Given the description of an element on the screen output the (x, y) to click on. 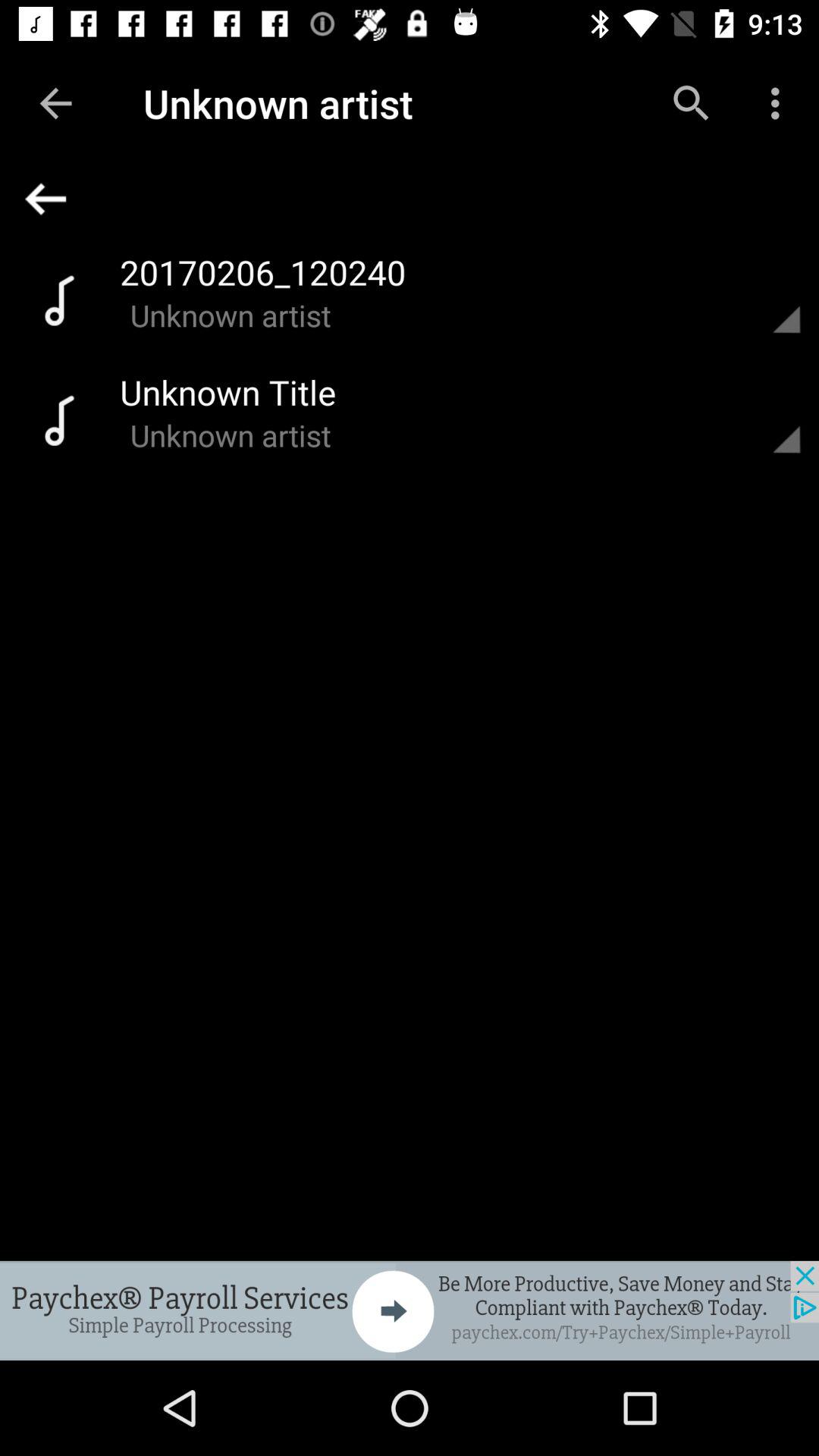
go to advertisement (409, 1310)
